Given the description of an element on the screen output the (x, y) to click on. 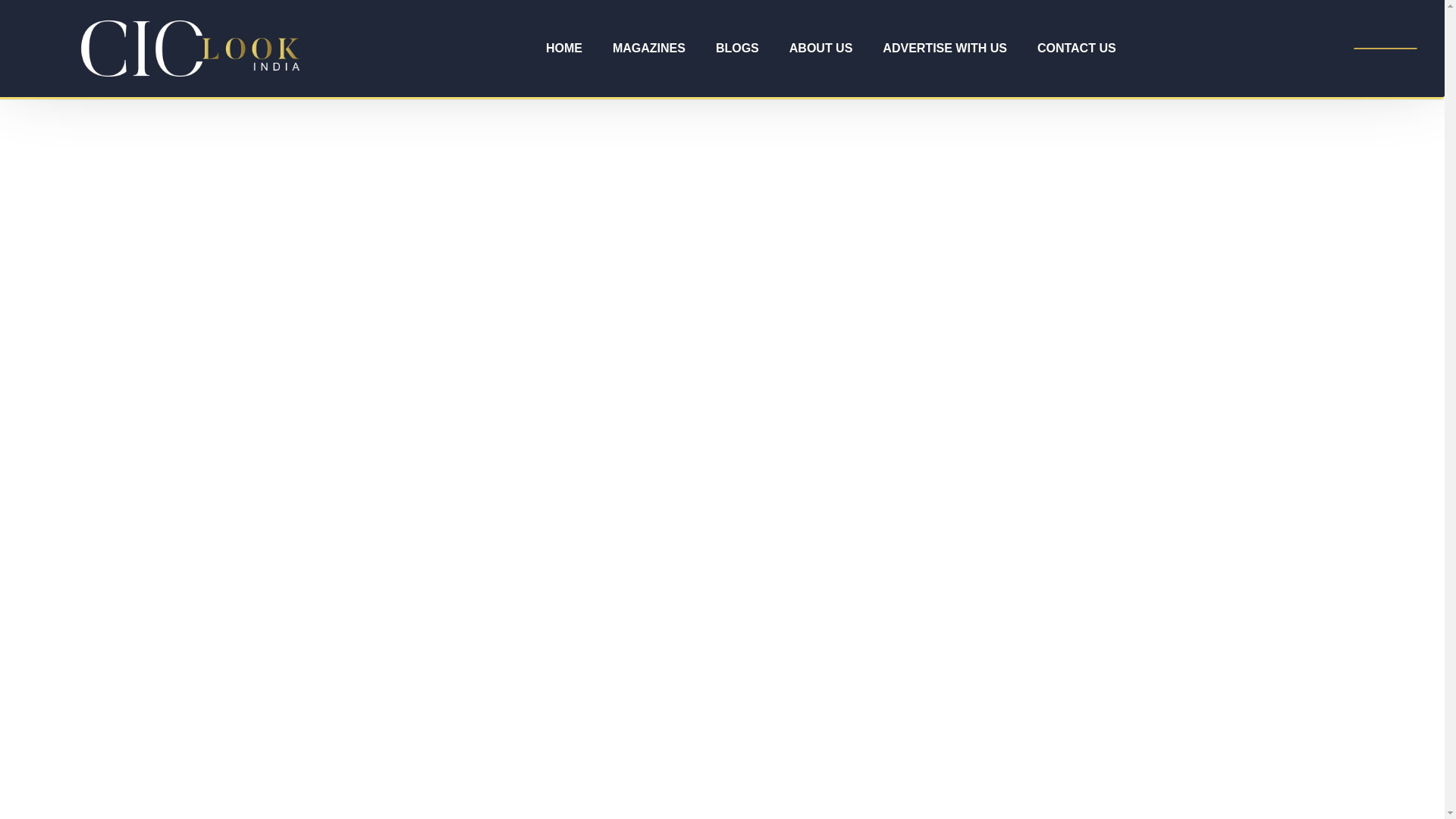
MAGAZINES (648, 48)
ABOUT US (820, 48)
BLOGS (737, 48)
CONTACT US (1076, 48)
HOME (563, 48)
ADVERTISE WITH US (944, 48)
